Given the description of an element on the screen output the (x, y) to click on. 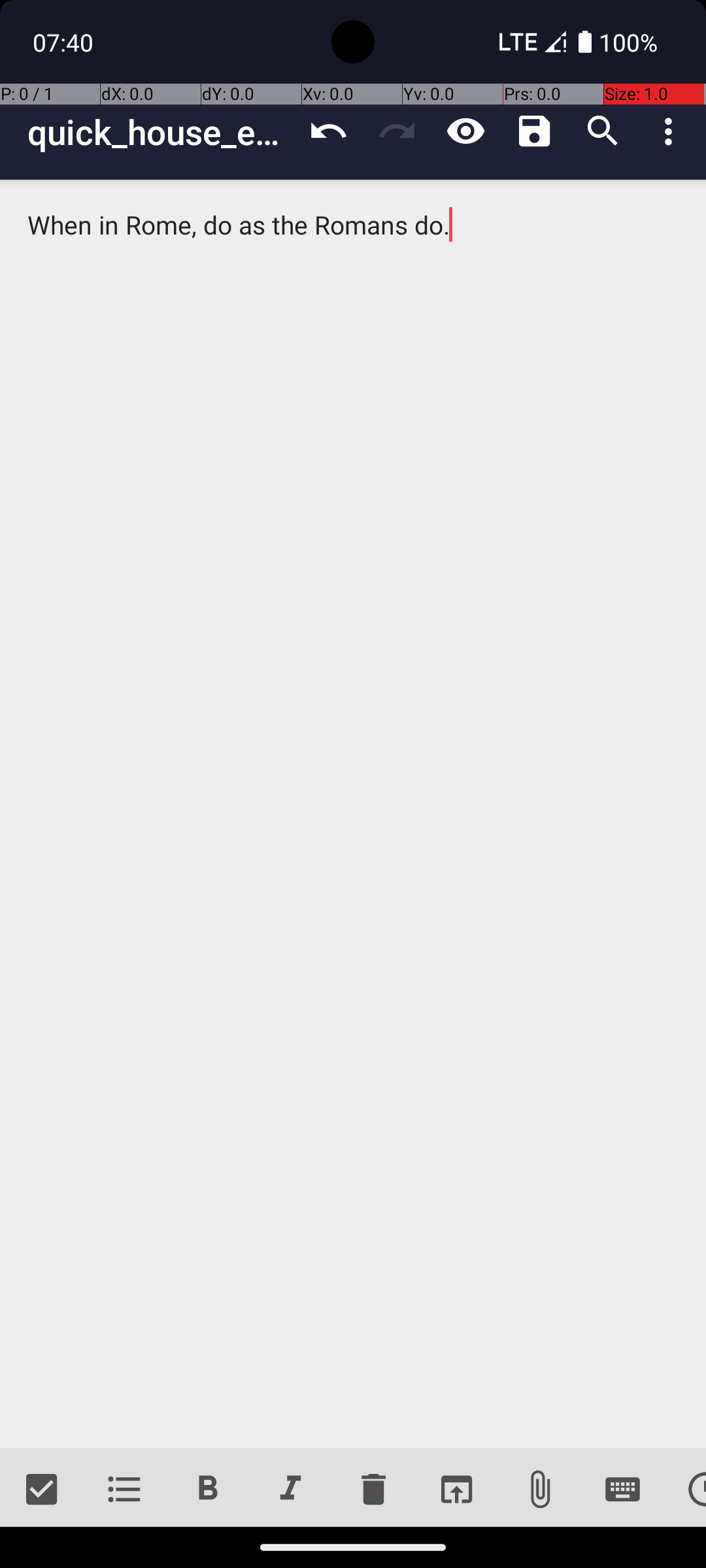
quick_house_edited Element type: android.widget.TextView (160, 131)
When in Rome, do as the Romans do. Element type: android.widget.EditText (353, 813)
07:40 Element type: android.widget.TextView (64, 41)
